Given the description of an element on the screen output the (x, y) to click on. 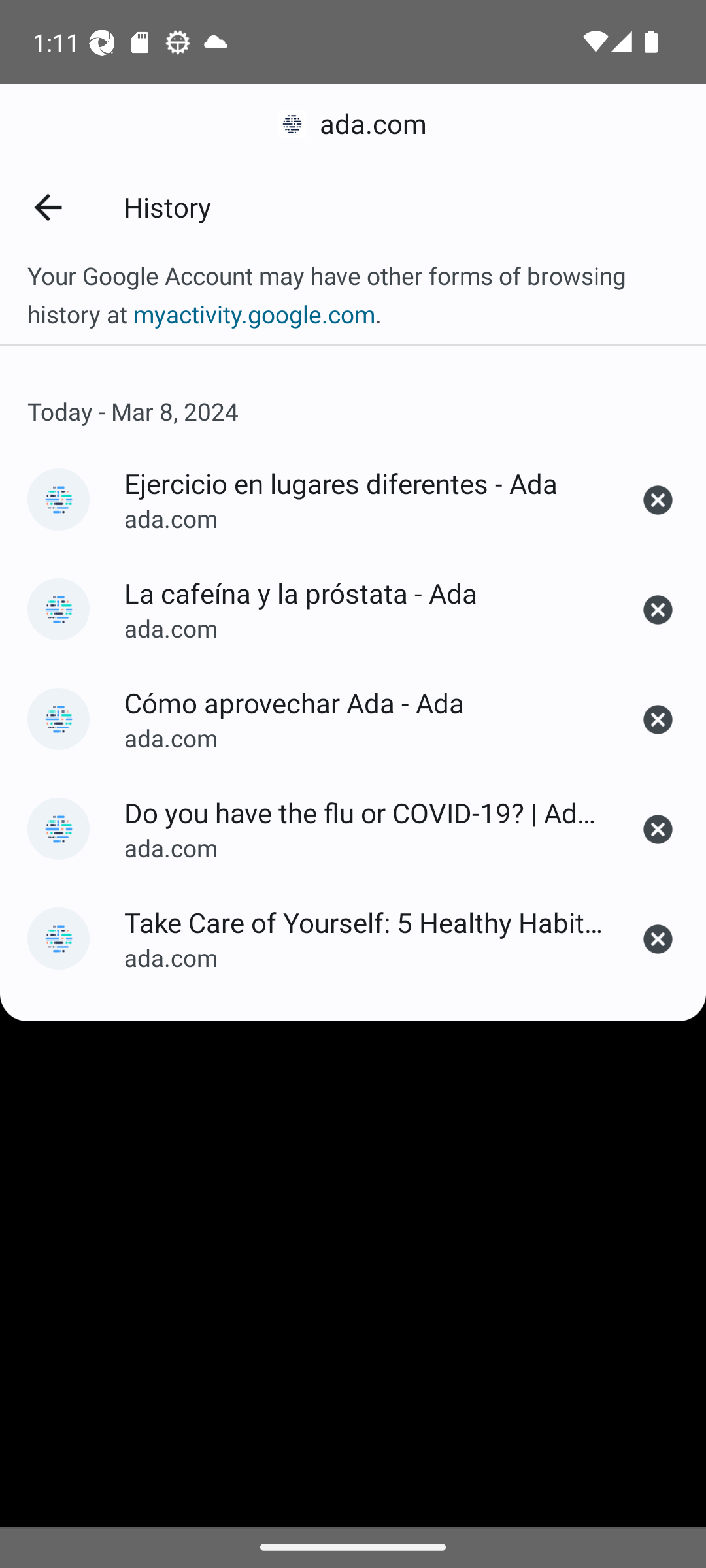
ada.com (353, 124)
Back (47, 206)
Ejercicio en lugares diferentes - Ada Remove (657, 500)
La cafeína y la próstata - Ada Remove (657, 609)
Cómo aprovechar Ada - Ada Remove (657, 719)
